Given the description of an element on the screen output the (x, y) to click on. 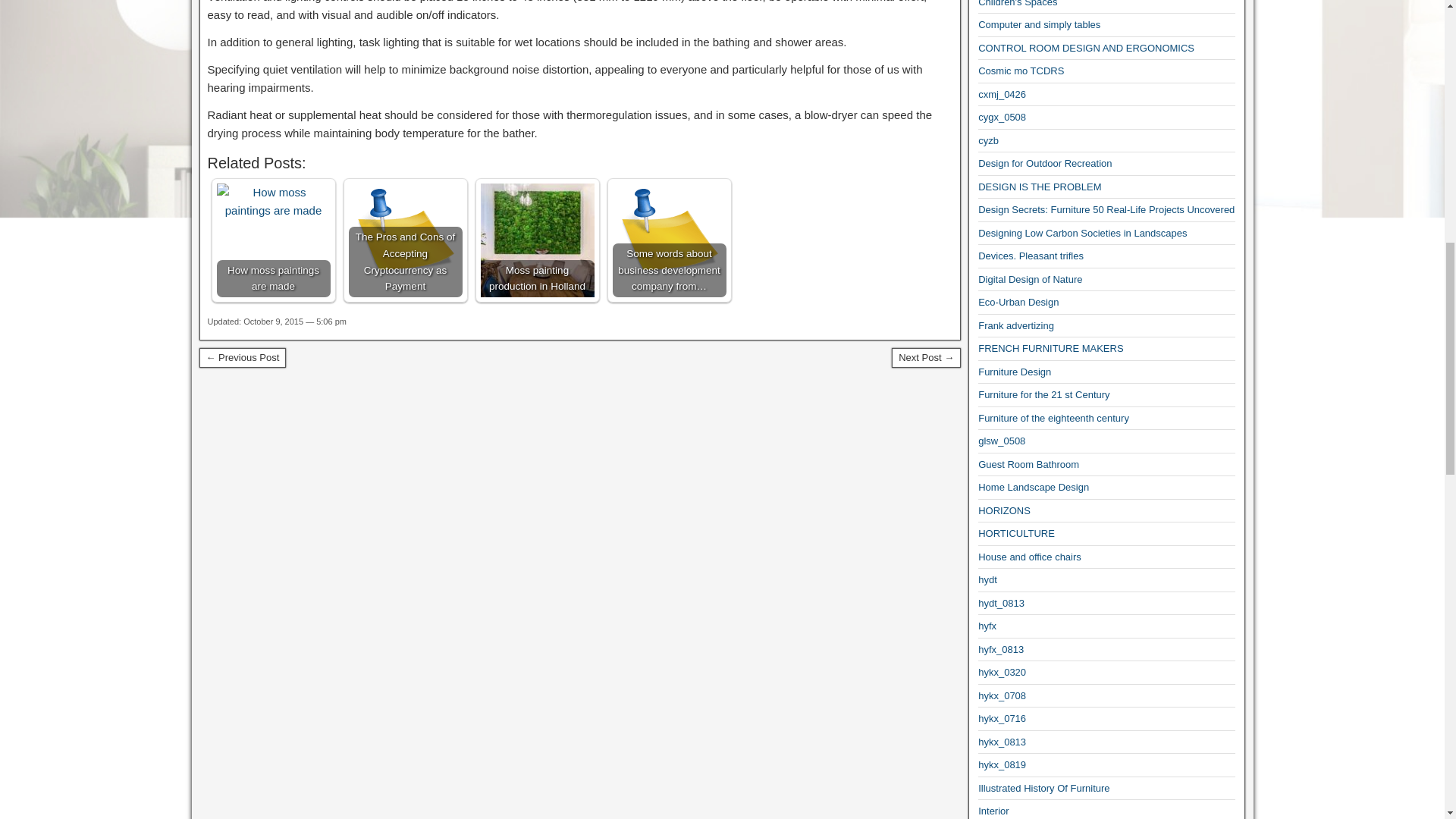
The Pros and Cons of Accepting Cryptocurrency as Payment (406, 240)
Designing Low Carbon Societies in Landscapes (1082, 233)
Moss painting production in Holland (537, 240)
Devices. Pleasant trifles (1030, 255)
CONTROL ROOM DESIGN AND ERGONOMICS (1085, 48)
Moss painting production in Holland (537, 240)
DESIGN IS THE PROBLEM (1039, 186)
Computer and simply tables (1039, 24)
Design for Outdoor Recreation (1045, 163)
Digital Design of Nature (1029, 279)
